Given the description of an element on the screen output the (x, y) to click on. 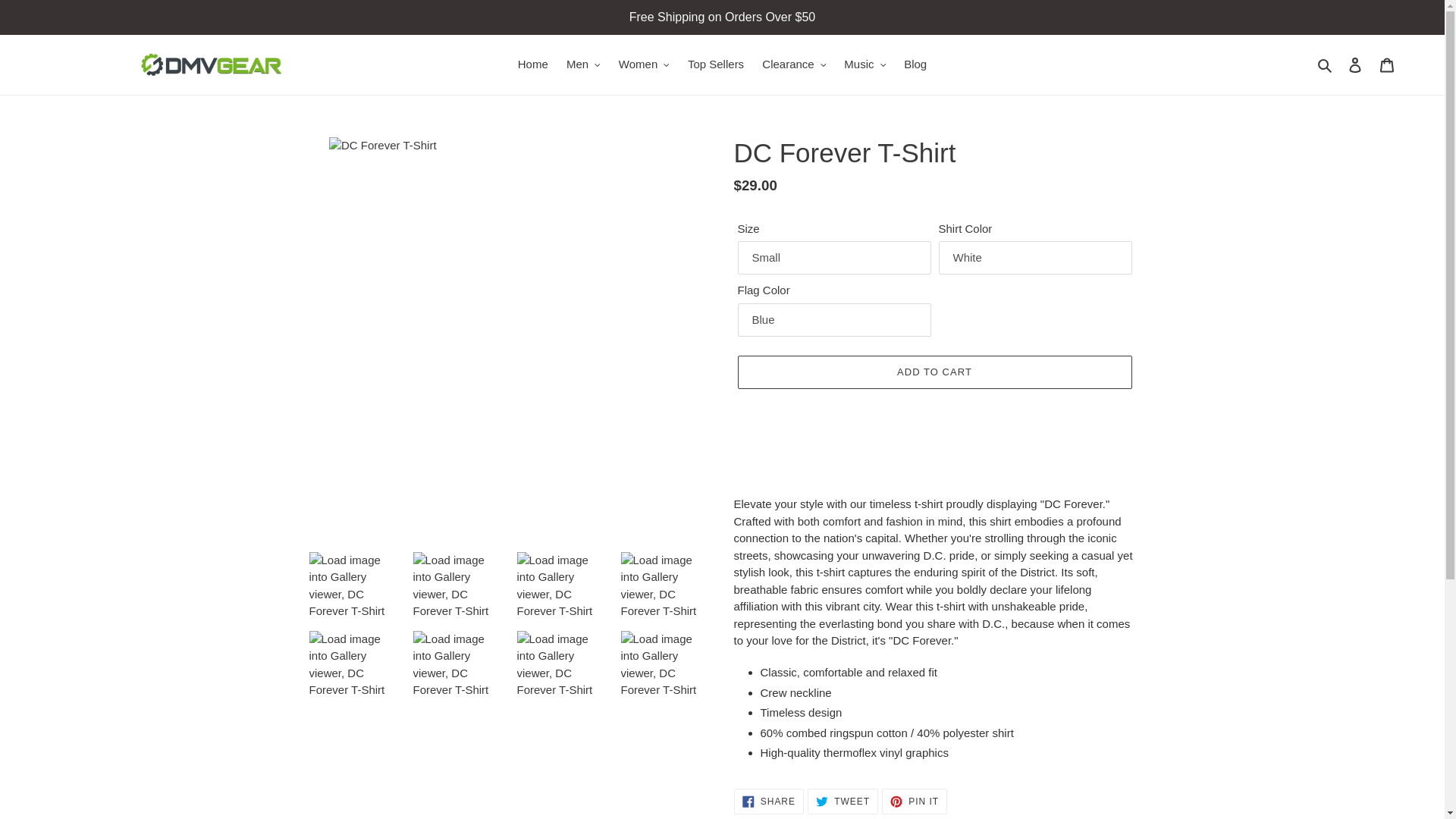
Clearance (793, 65)
Blog (915, 65)
Music (864, 65)
Cart (1387, 64)
Top Sellers (715, 65)
Women (644, 65)
Search (1326, 64)
Home (533, 65)
Log in (1355, 64)
Men (583, 65)
